Given the description of an element on the screen output the (x, y) to click on. 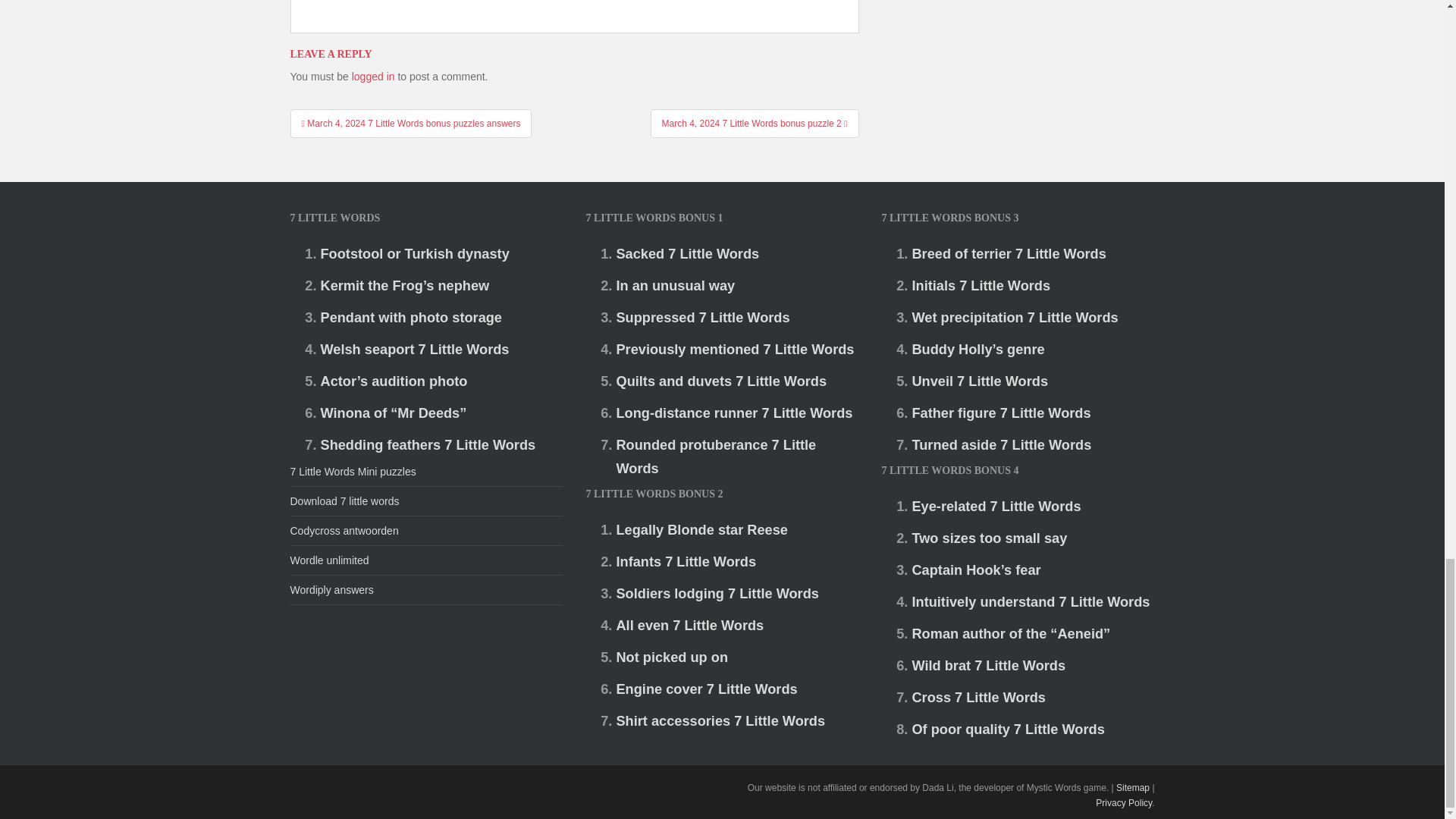
March 4, 2024 7 Little Words bonus puzzles answers (410, 123)
March 4, 2024 7 Little Words bonus puzzle 2 (754, 123)
logged in (373, 76)
